Given the description of an element on the screen output the (x, y) to click on. 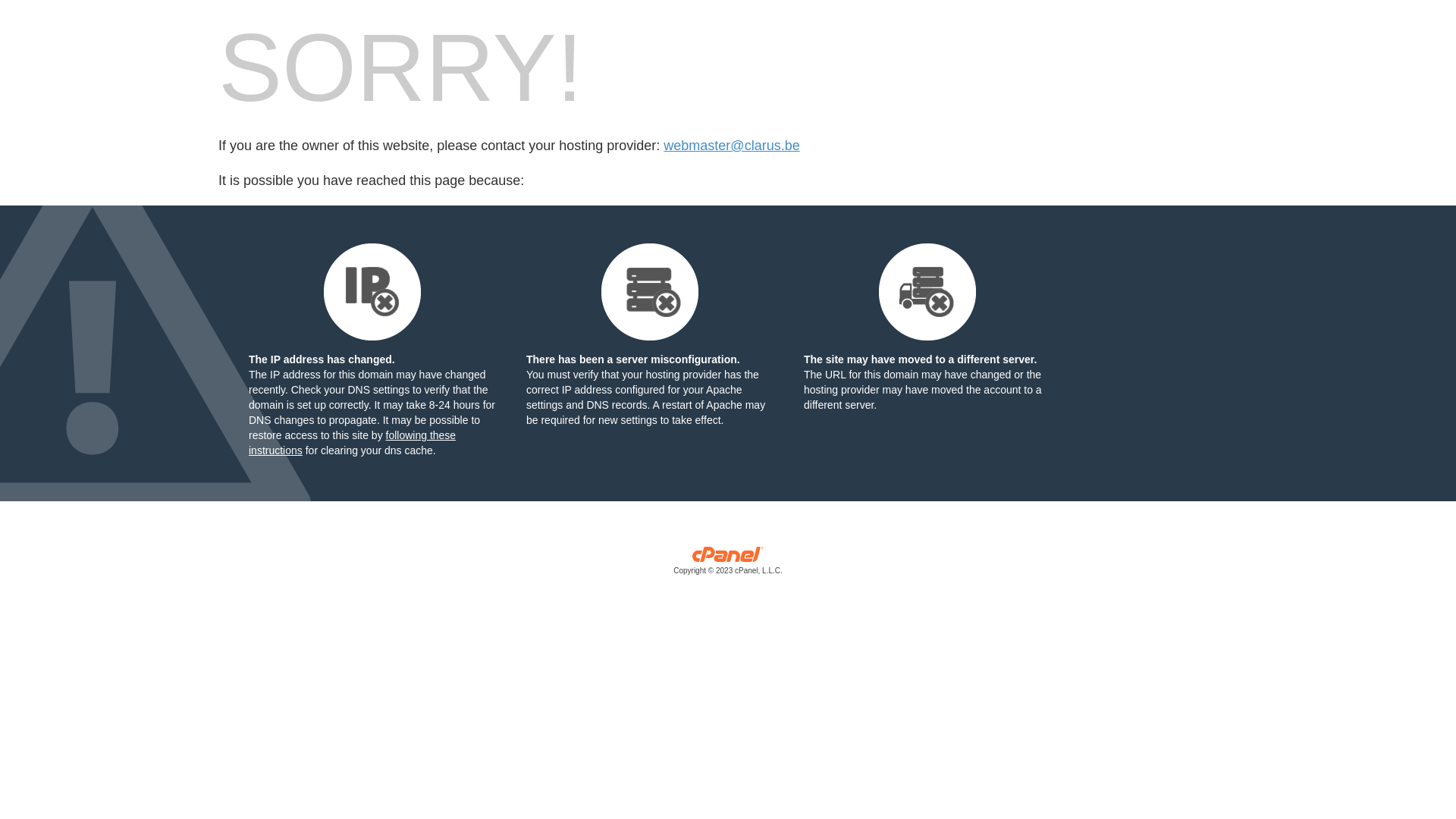
webmaster@clarus.be Element type: text (731, 145)
following these instructions Element type: text (351, 442)
